Given the description of an element on the screen output the (x, y) to click on. 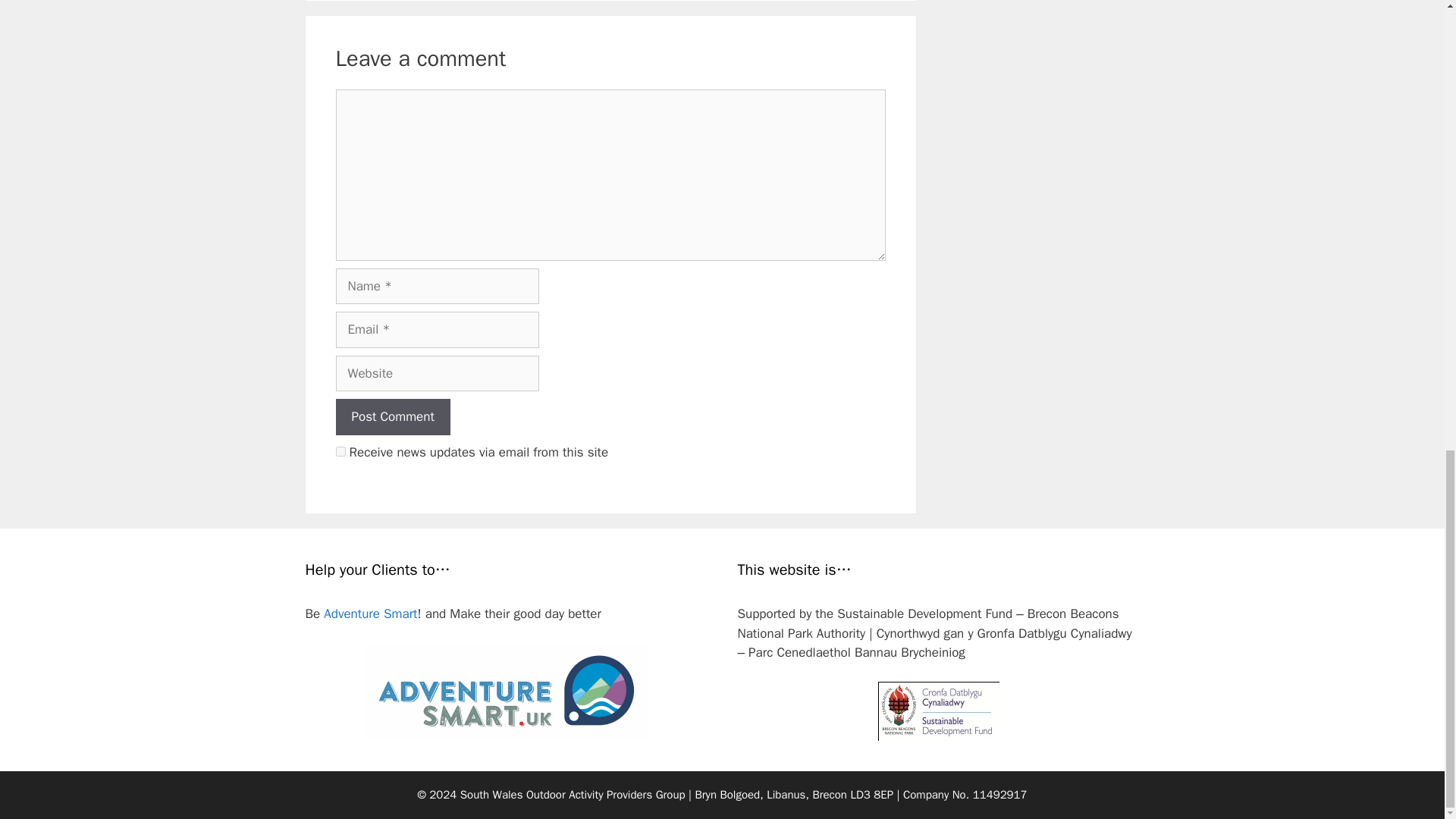
1 (339, 451)
Post Comment (391, 416)
